Given the description of an element on the screen output the (x, y) to click on. 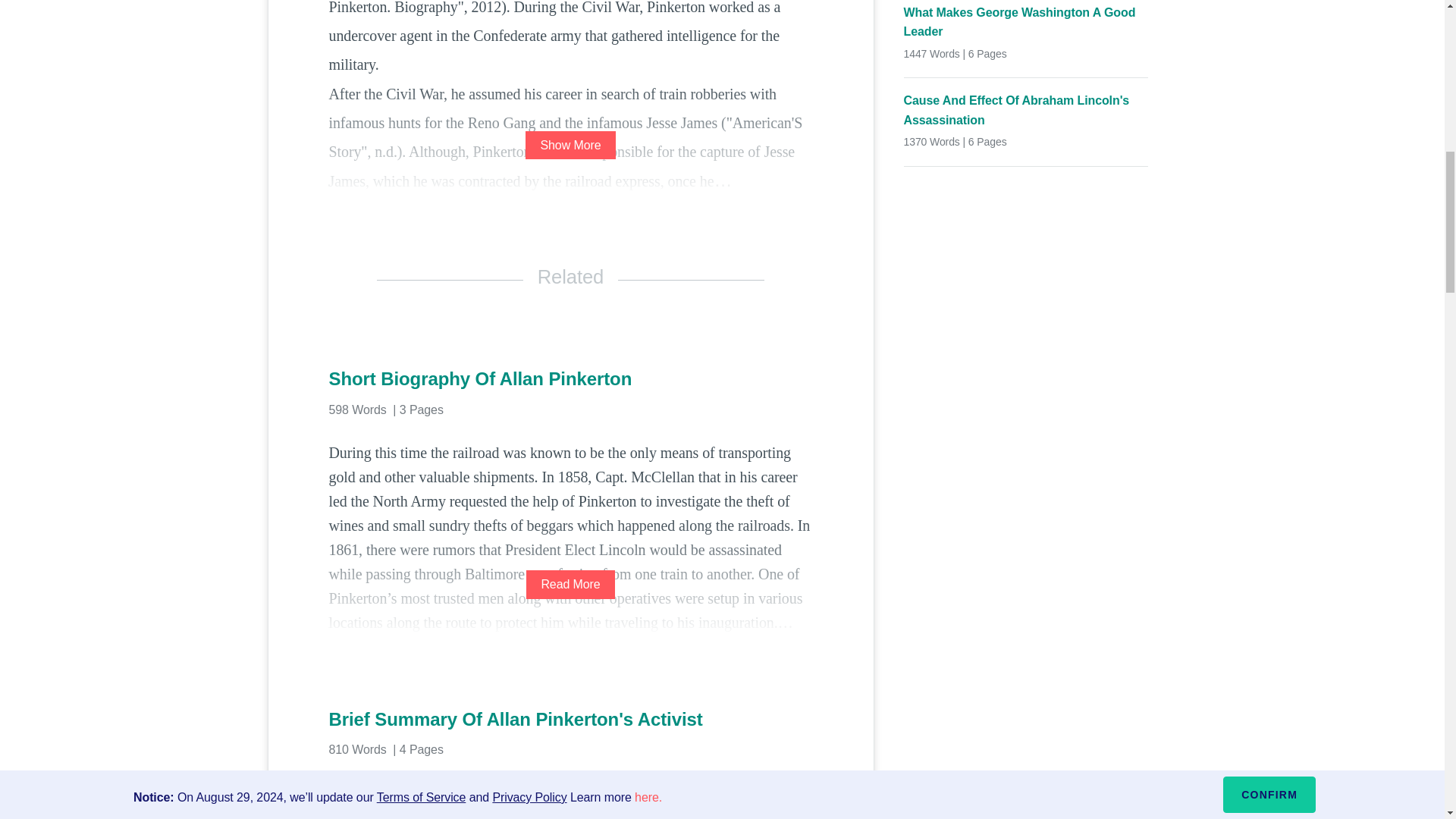
Brief Summary Of Allan Pinkerton's Activist (570, 719)
Show More (569, 144)
Read More (569, 584)
What Makes George Washington A Good Leader (1026, 22)
Short Biography Of Allan Pinkerton (570, 378)
Cause And Effect Of Abraham Lincoln's Assassination (1026, 109)
